Given the description of an element on the screen output the (x, y) to click on. 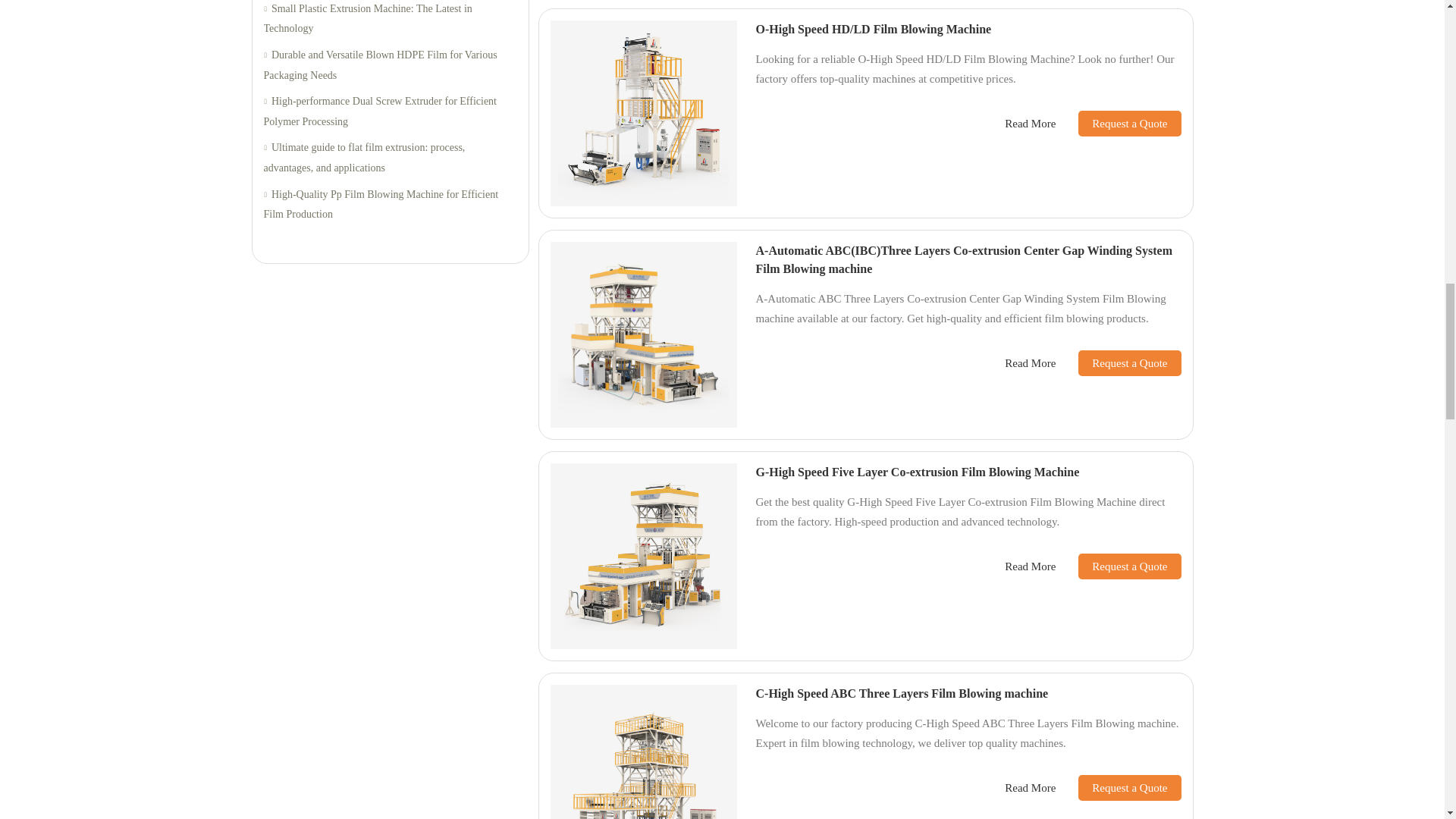
Small Plastic Extrusion Machine: The Latest in Technology (389, 19)
